Given the description of an element on the screen output the (x, y) to click on. 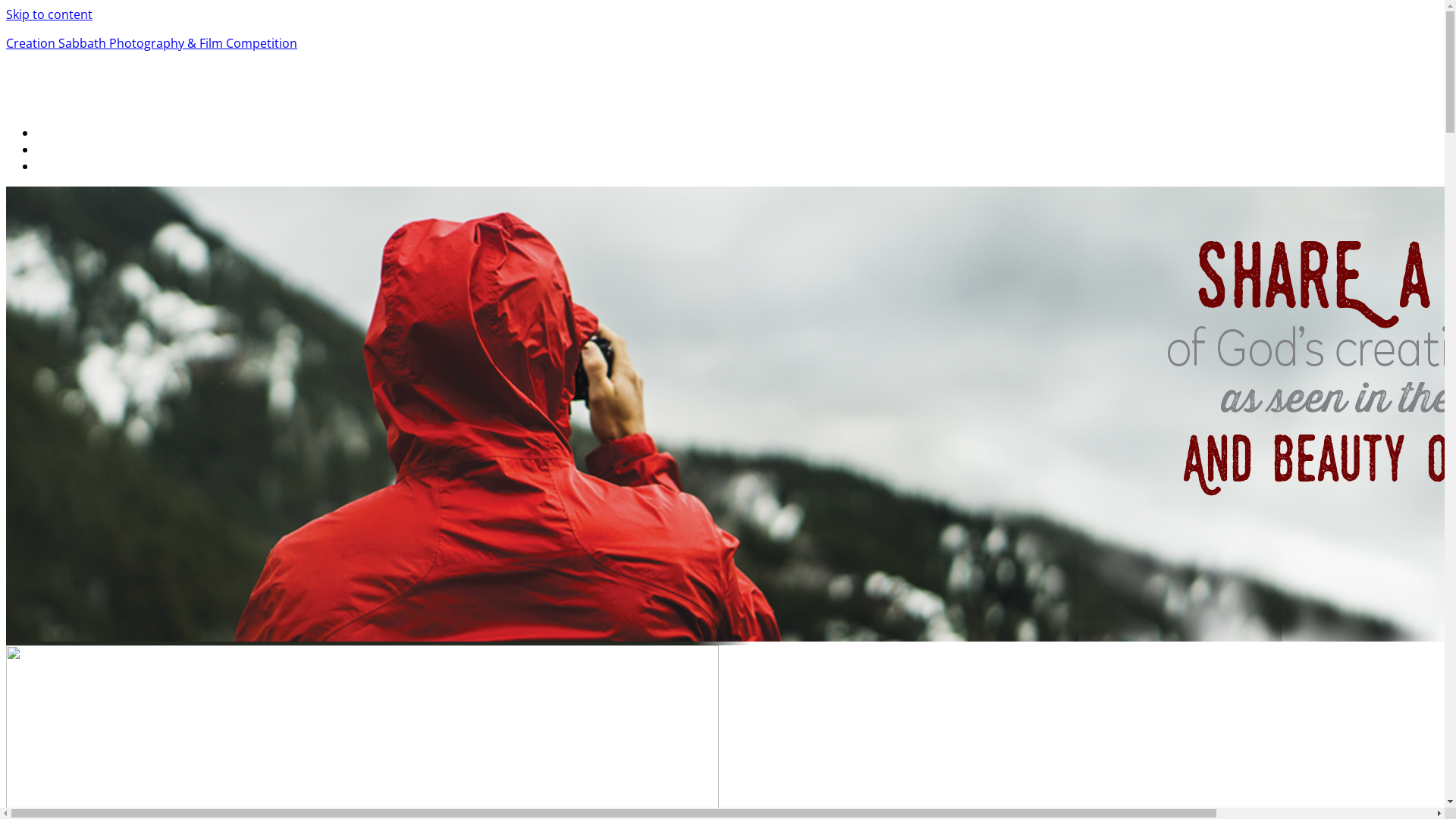
Creation Sabbath Photography & Film Competition Element type: text (151, 42)
Skip to content Element type: text (49, 14)
